Given the description of an element on the screen output the (x, y) to click on. 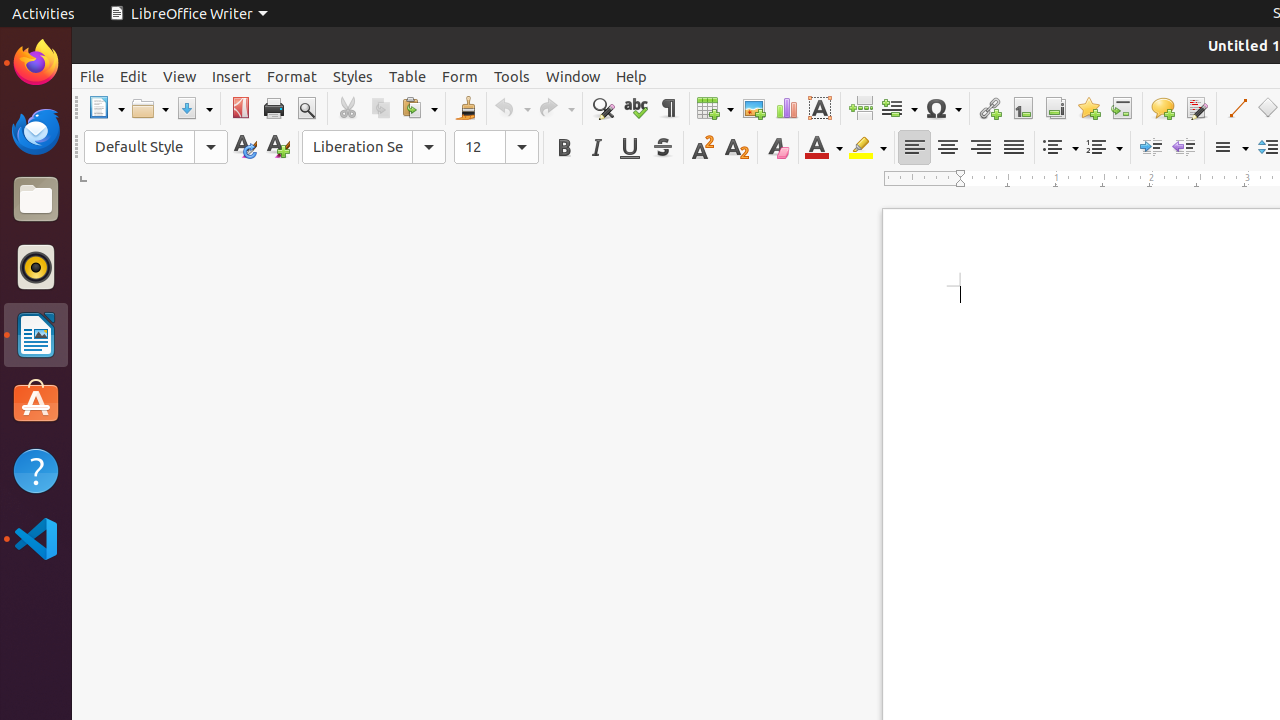
Font Name Element type: panel (374, 147)
Text Box Element type: push-button (819, 108)
Right Element type: toggle-button (980, 147)
View Element type: menu (179, 76)
